Given the description of an element on the screen output the (x, y) to click on. 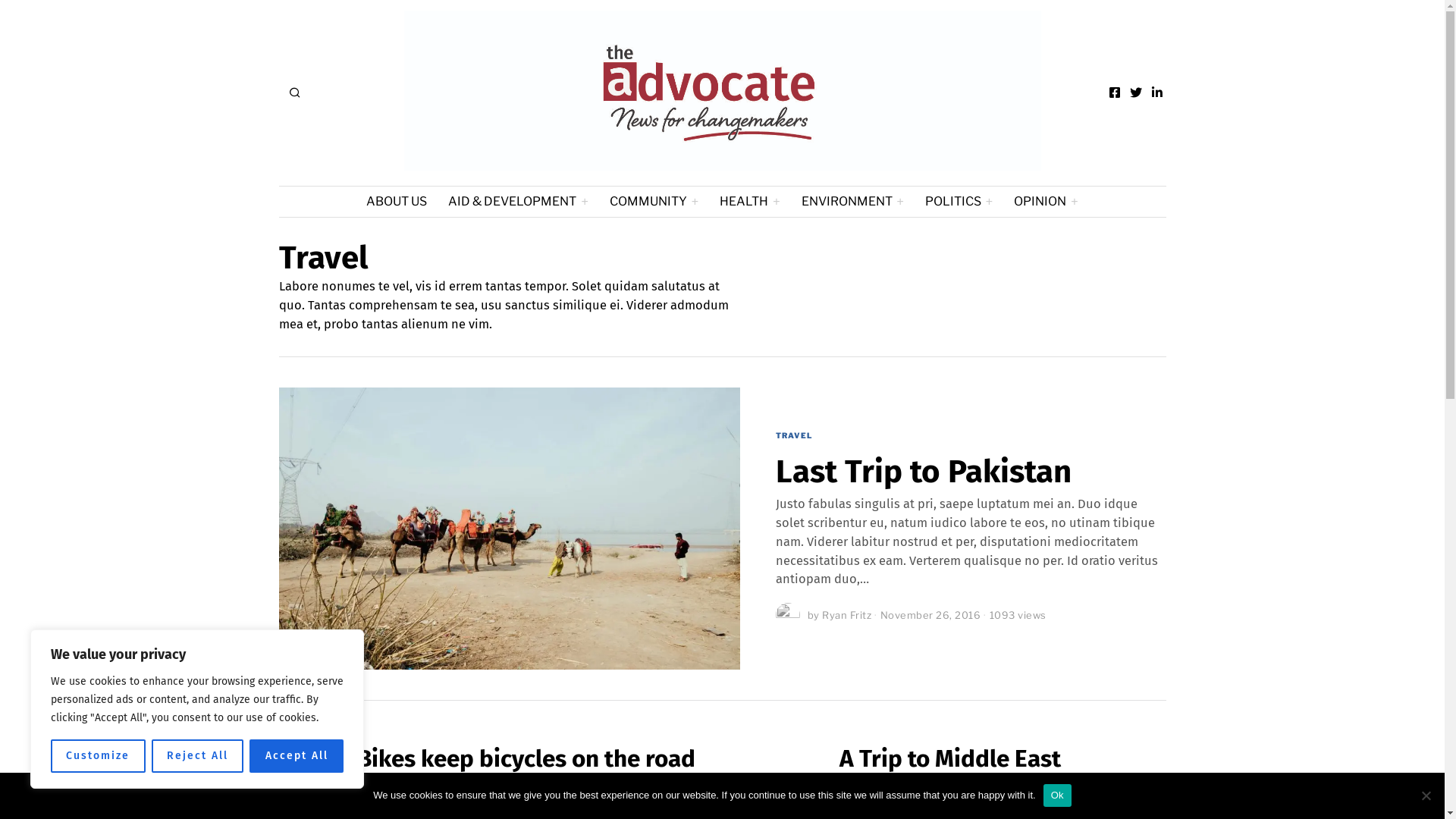
Ryan Fritz Element type: text (846, 614)
ENVIRONMENT Element type: text (851, 201)
HEALTH Element type: text (749, 201)
Ok Element type: text (1057, 795)
POLITICS Element type: text (958, 201)
OPINION Element type: text (1045, 201)
Facebook Element type: text (1114, 92)
COMMUNITY Element type: text (654, 201)
Last Trip to Pakistan Element type: text (923, 471)
ABOUT US Element type: text (396, 201)
Accept All Element type: text (296, 755)
Reject All Element type: text (197, 755)
Carol Saffer Element type: text (475, 792)
LinkedIn Element type: text (1157, 92)
Back2Bikes keep bicycles on the road Element type: text (494, 758)
AID & DEVELOPMENT Element type: text (517, 201)
TRAVEL Element type: text (793, 435)
Customize Element type: text (97, 755)
No Element type: hover (1425, 795)
Ryan Fritz Element type: text (869, 792)
Twitter Element type: text (1135, 92)
A Trip to Middle East Element type: text (949, 758)
Travel Element type: text (1025, 792)
